Given the description of an element on the screen output the (x, y) to click on. 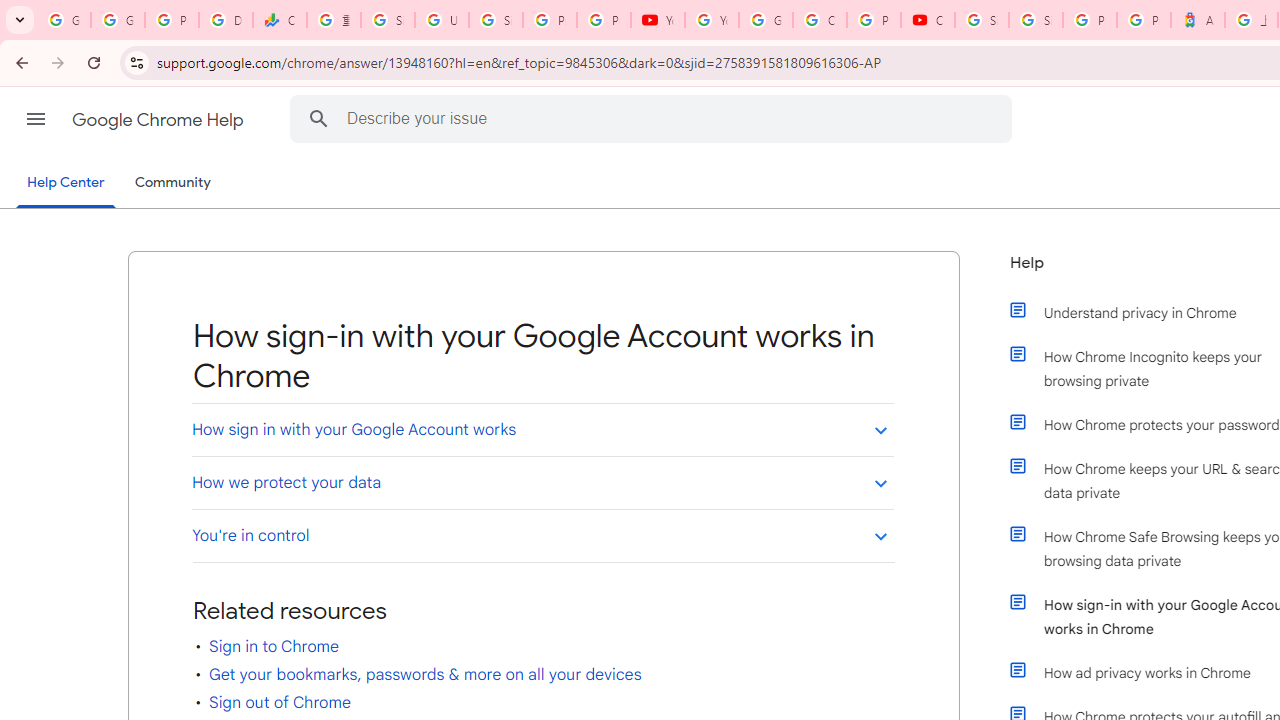
Sign in to Chrome (274, 646)
Sign out of Chrome (279, 702)
Currencies - Google Finance (280, 20)
Describe your issue (653, 118)
Search Help Center (318, 118)
YouTube (711, 20)
You're in control (542, 535)
Google Account Help (765, 20)
